Given the description of an element on the screen output the (x, y) to click on. 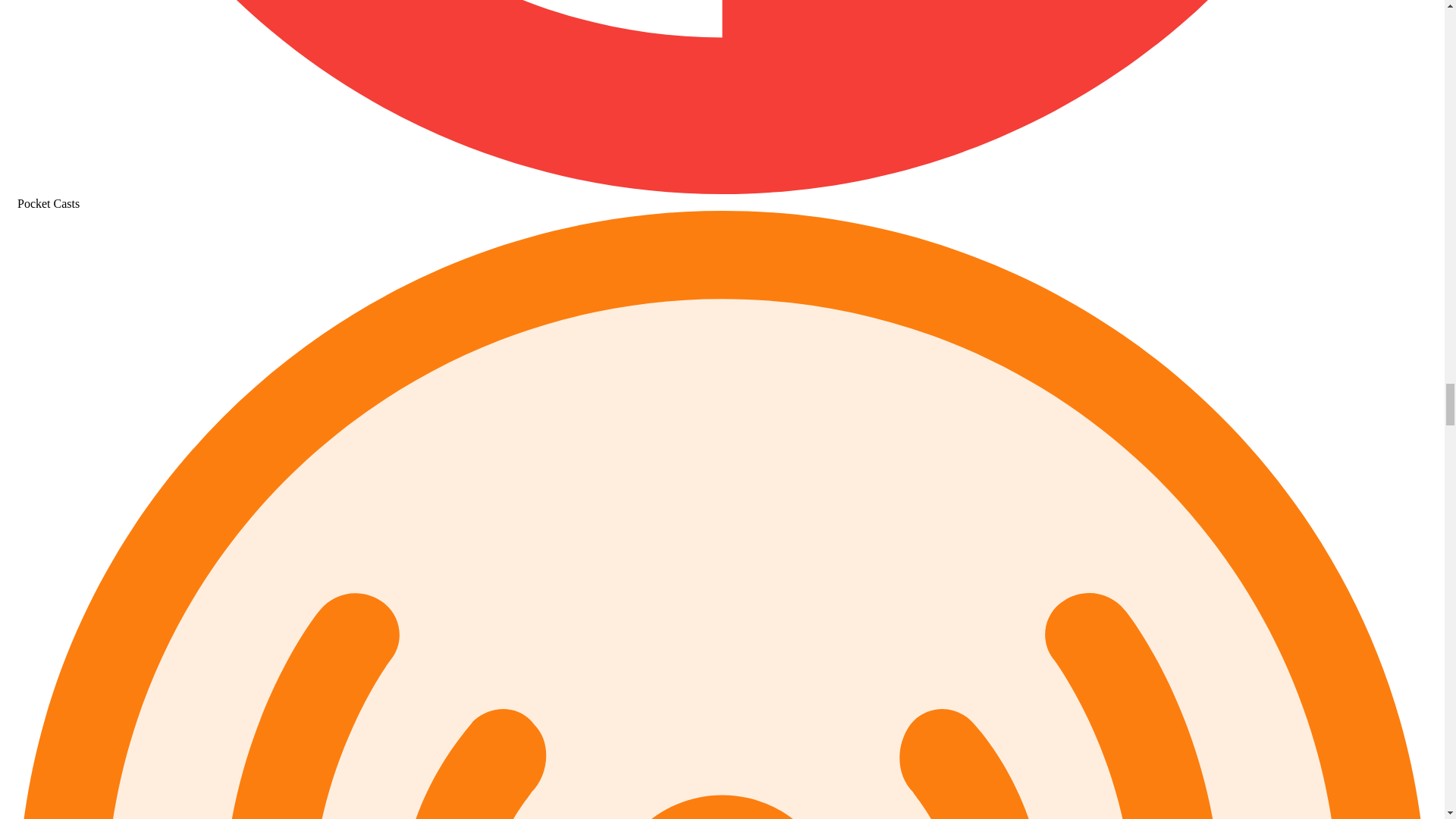
Pocket Casts (721, 196)
